Given the description of an element on the screen output the (x, y) to click on. 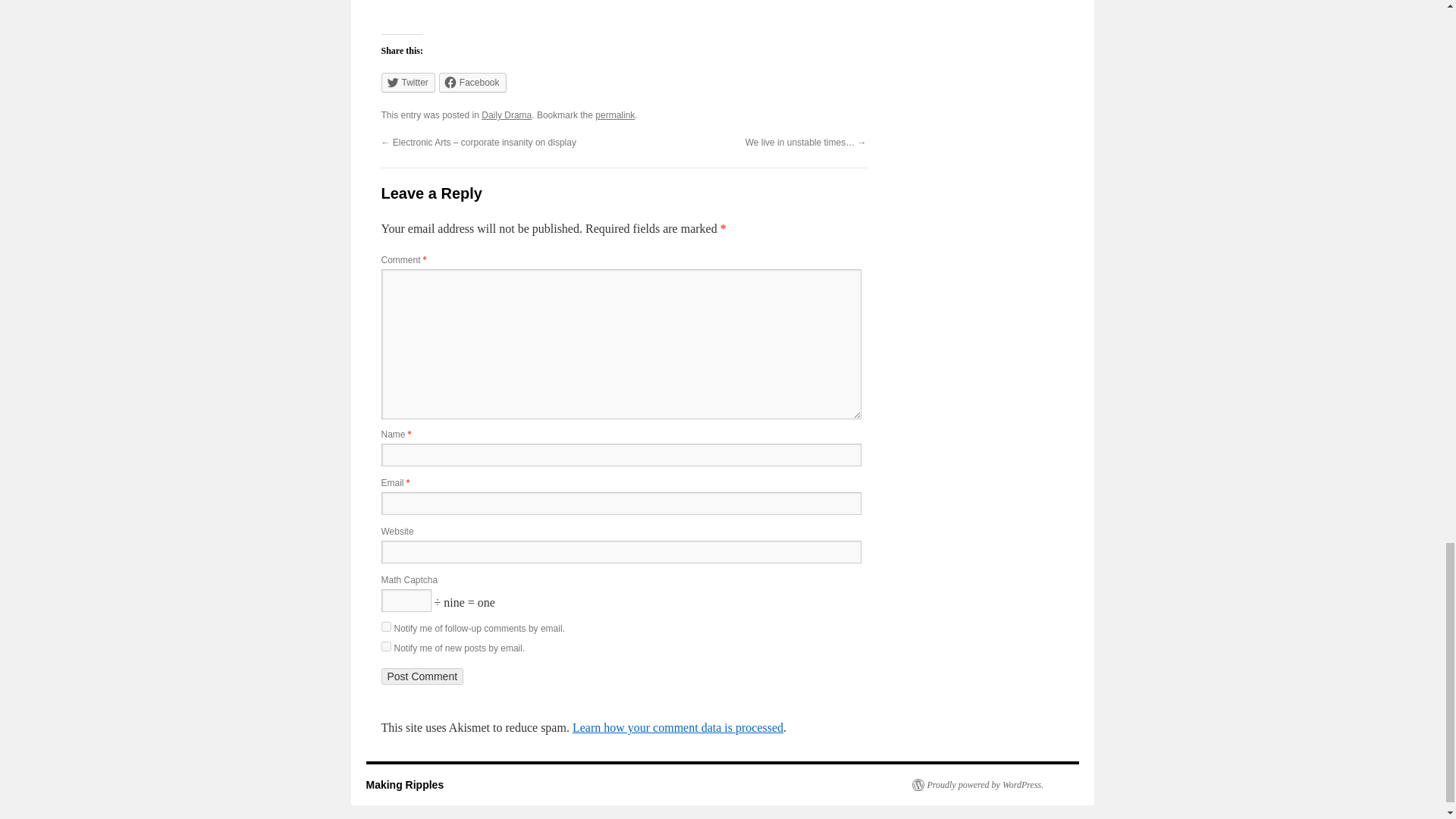
Semantic Personal Publishing Platform (977, 784)
Making Ripples (404, 784)
Permalink to The Sleeping Giant moves beyond Pearl Harbor (614, 114)
Click to share on Twitter (406, 82)
Making Ripples (404, 784)
subscribe (385, 626)
Click to share on Facebook (472, 82)
Learn how your comment data is processed (677, 727)
permalink (614, 114)
Daily Drama (506, 114)
Post Comment (421, 676)
Facebook (472, 82)
Proudly powered by WordPress. (977, 784)
subscribe (385, 646)
Twitter (406, 82)
